Given the description of an element on the screen output the (x, y) to click on. 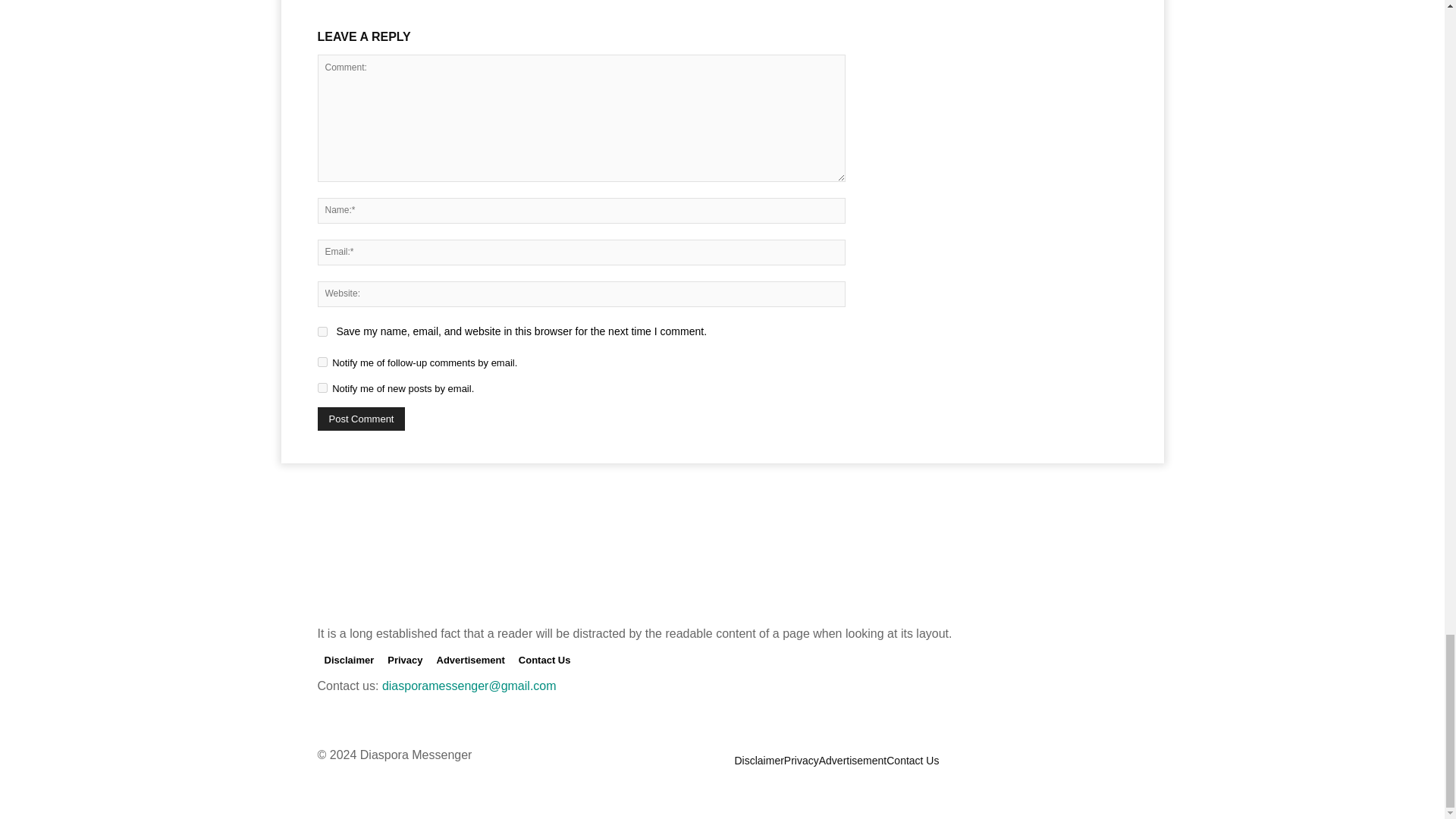
Post Comment (360, 418)
yes (321, 331)
subscribe (321, 388)
subscribe (321, 361)
